Given the description of an element on the screen output the (x, y) to click on. 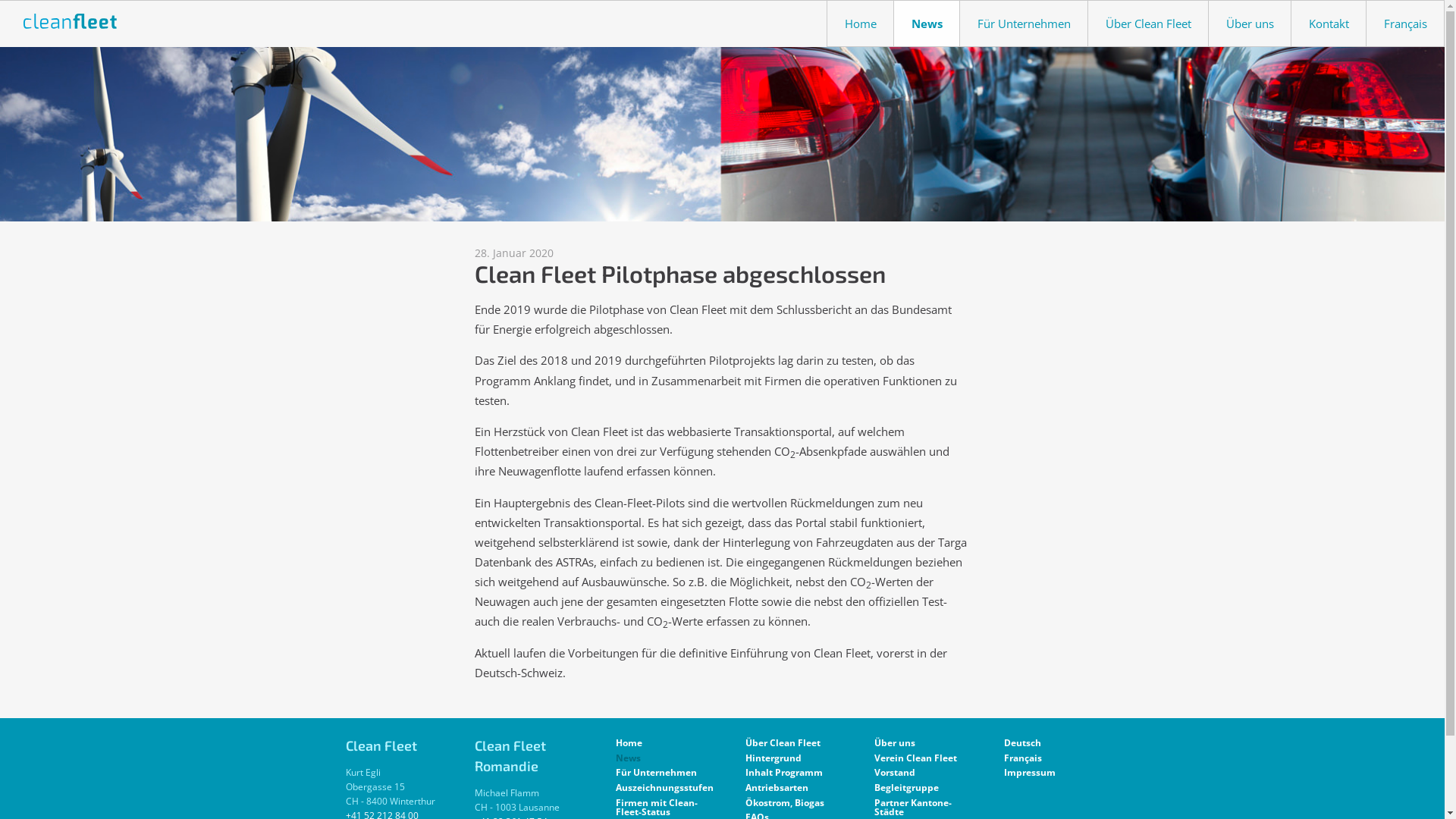
Verein Clean Fleet Element type: text (915, 757)
Kontakt Element type: text (1328, 23)
Antriebsarten Element type: text (786, 787)
Home Element type: text (860, 23)
News Element type: text (926, 23)
News Element type: text (657, 757)
Impressum Element type: text (1045, 773)
Hintergrund Element type: text (786, 757)
Home Element type: text (657, 742)
Vorstand Element type: text (915, 773)
Inhalt Programm Element type: text (786, 773)
Deutsch Element type: text (1045, 742)
Auszeichnungsstufen Element type: text (657, 787)
Begleitgruppe Element type: text (915, 787)
